Given the description of an element on the screen output the (x, y) to click on. 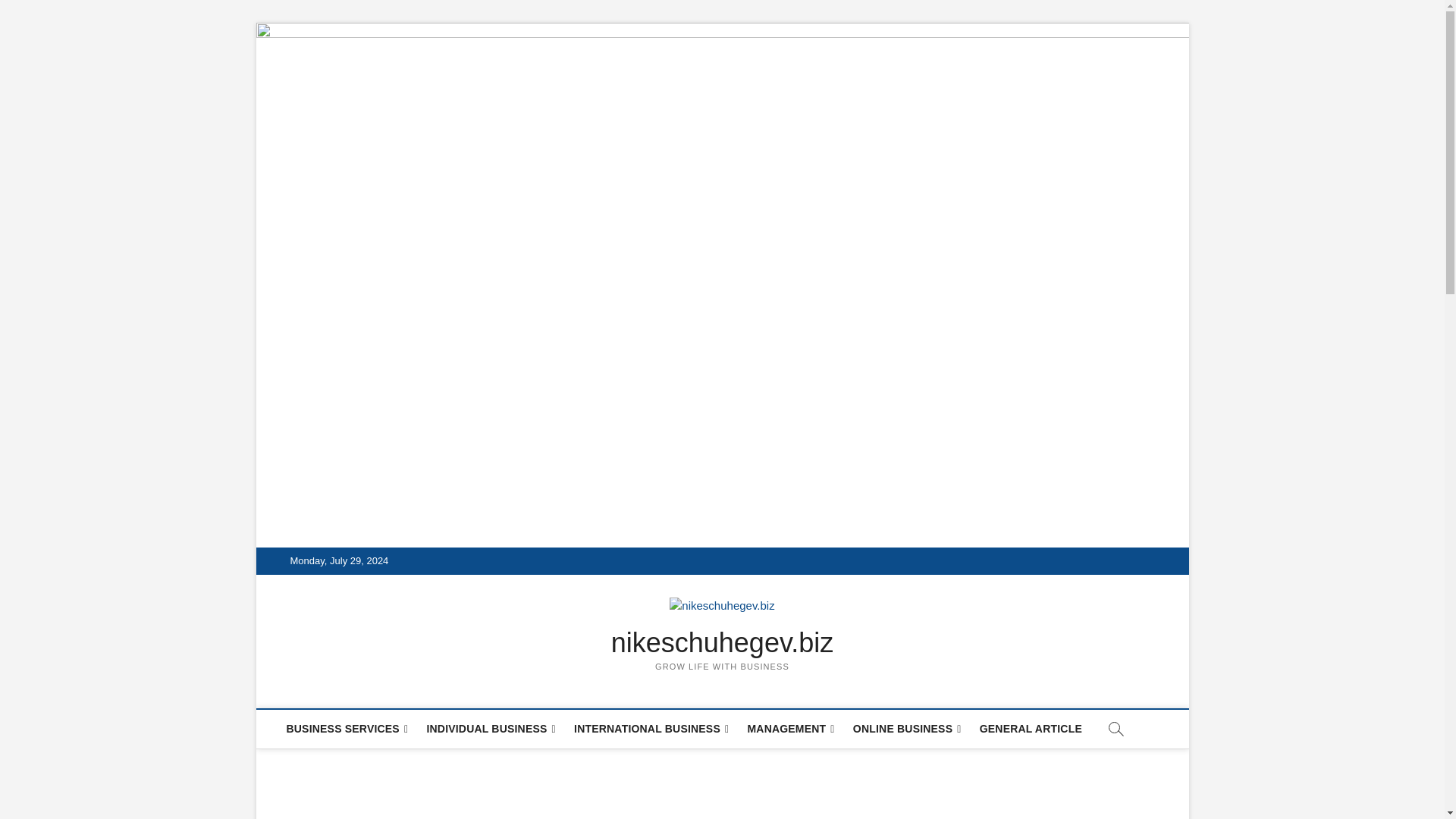
GENERAL ARTICLE (1030, 728)
ONLINE BUSINESS (907, 729)
INTERNATIONAL BUSINESS (651, 729)
BUSINESS SERVICES (347, 729)
nikeschuhegev.biz (722, 643)
INDIVIDUAL BUSINESS (490, 729)
nikeschuhegev.biz (722, 643)
MANAGEMENT (790, 729)
